Given the description of an element on the screen output the (x, y) to click on. 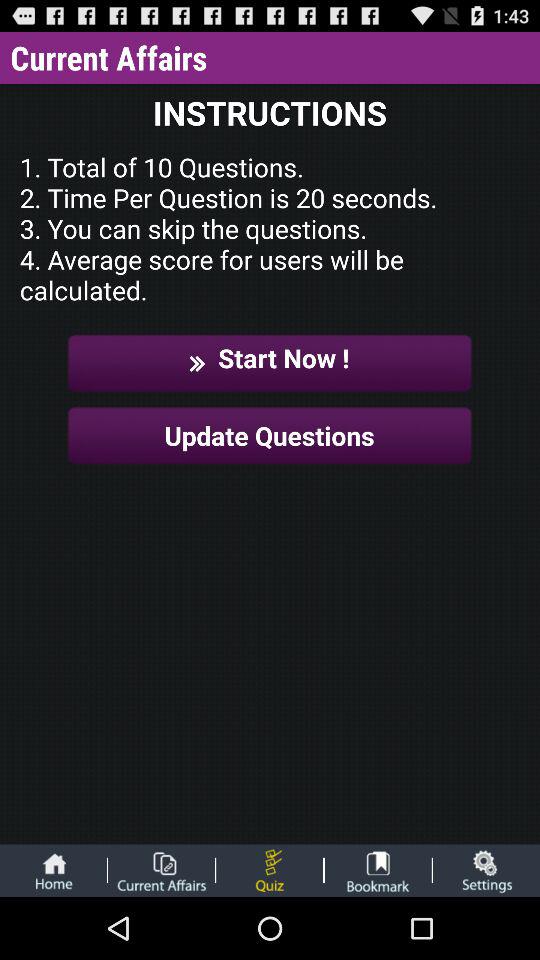
go to page (161, 870)
